Given the description of an element on the screen output the (x, y) to click on. 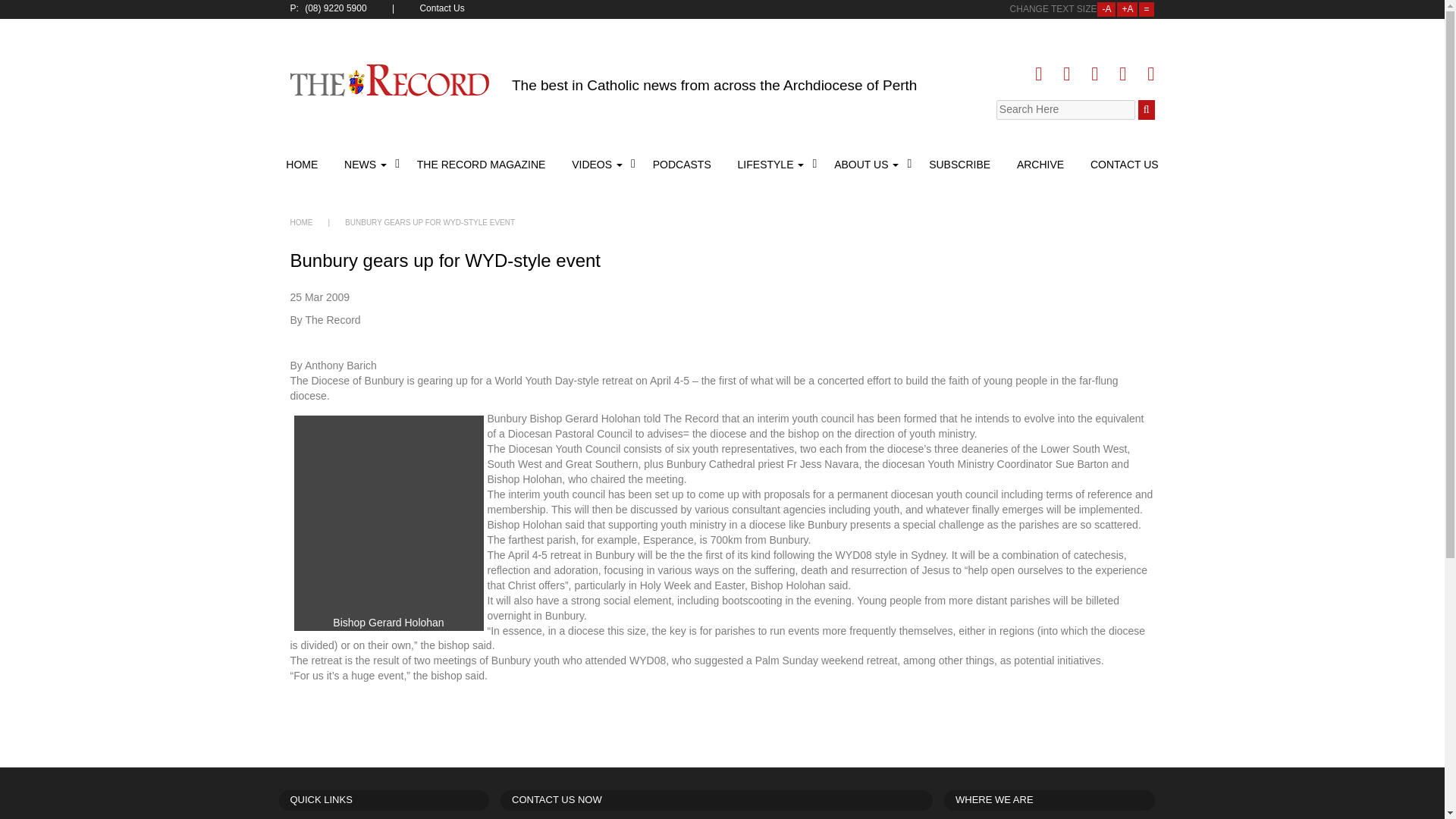
VIDEOS (598, 164)
Our Linked In page (1093, 74)
Contact Us (443, 8)
LIFESTYLE (772, 164)
The Record (389, 80)
HOME (301, 222)
NEWS (367, 164)
HOME (303, 164)
Our Youtube page (1122, 74)
ABOUT US (867, 164)
holohan.jpg (388, 515)
ARCHIVE (1040, 164)
Our Twitter page (1066, 74)
SUBSCRIBE (959, 164)
CONTACT US (1122, 164)
